Given the description of an element on the screen output the (x, y) to click on. 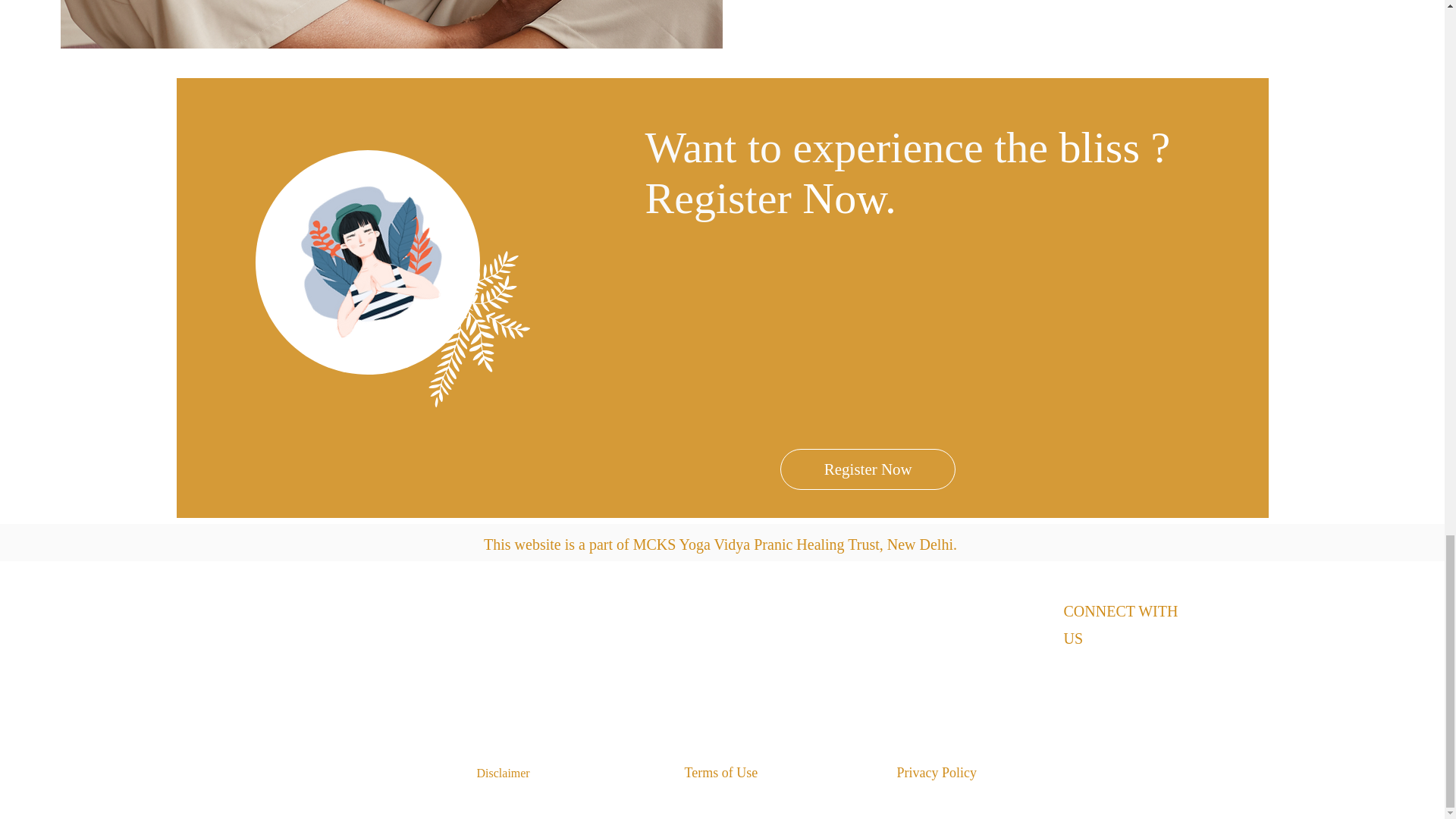
Register Now (866, 468)
Terms of Use (728, 773)
Privacy Policy (943, 773)
Disclaimer (508, 773)
